Given the description of an element on the screen output the (x, y) to click on. 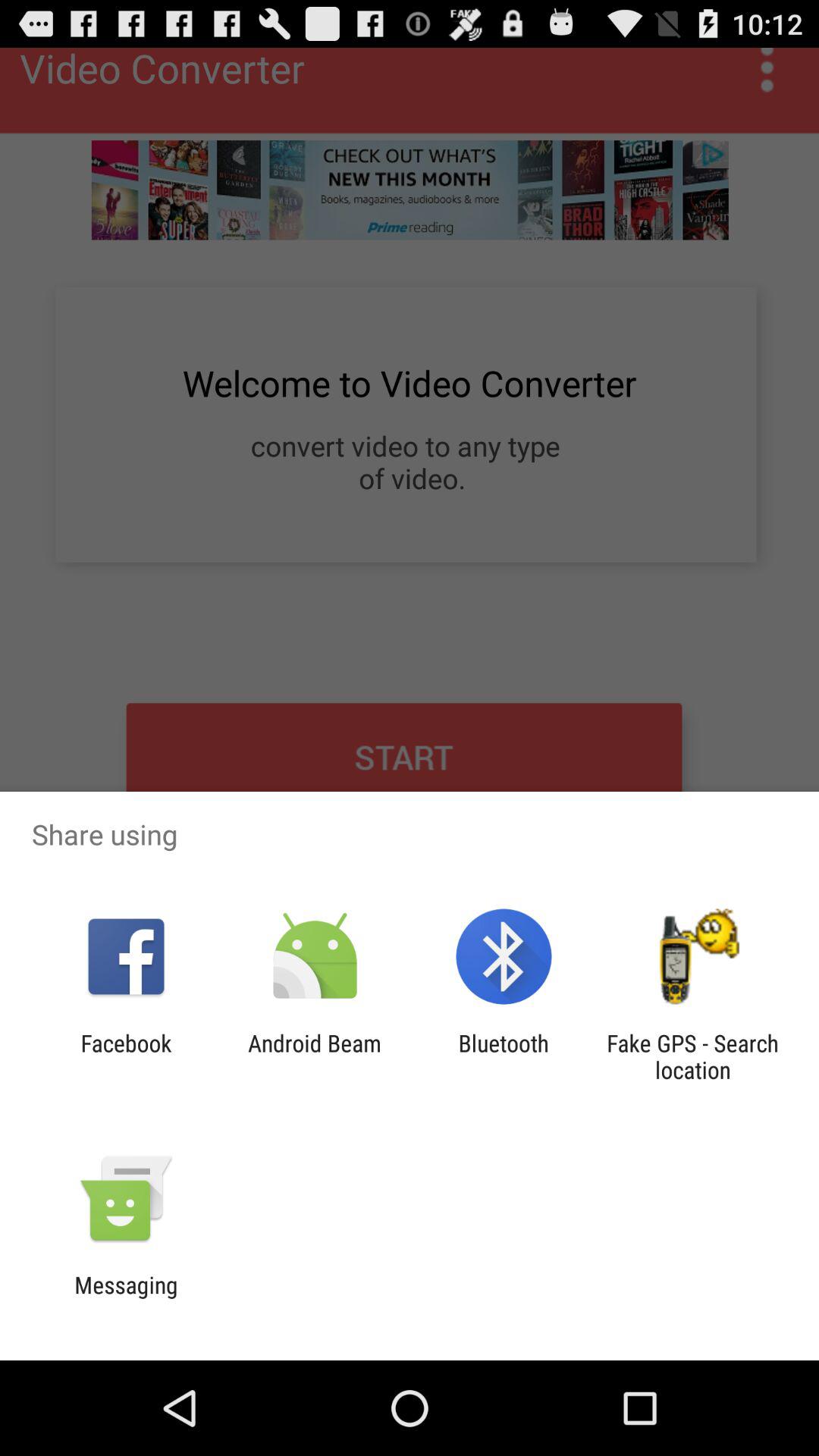
scroll to the android beam (314, 1056)
